Given the description of an element on the screen output the (x, y) to click on. 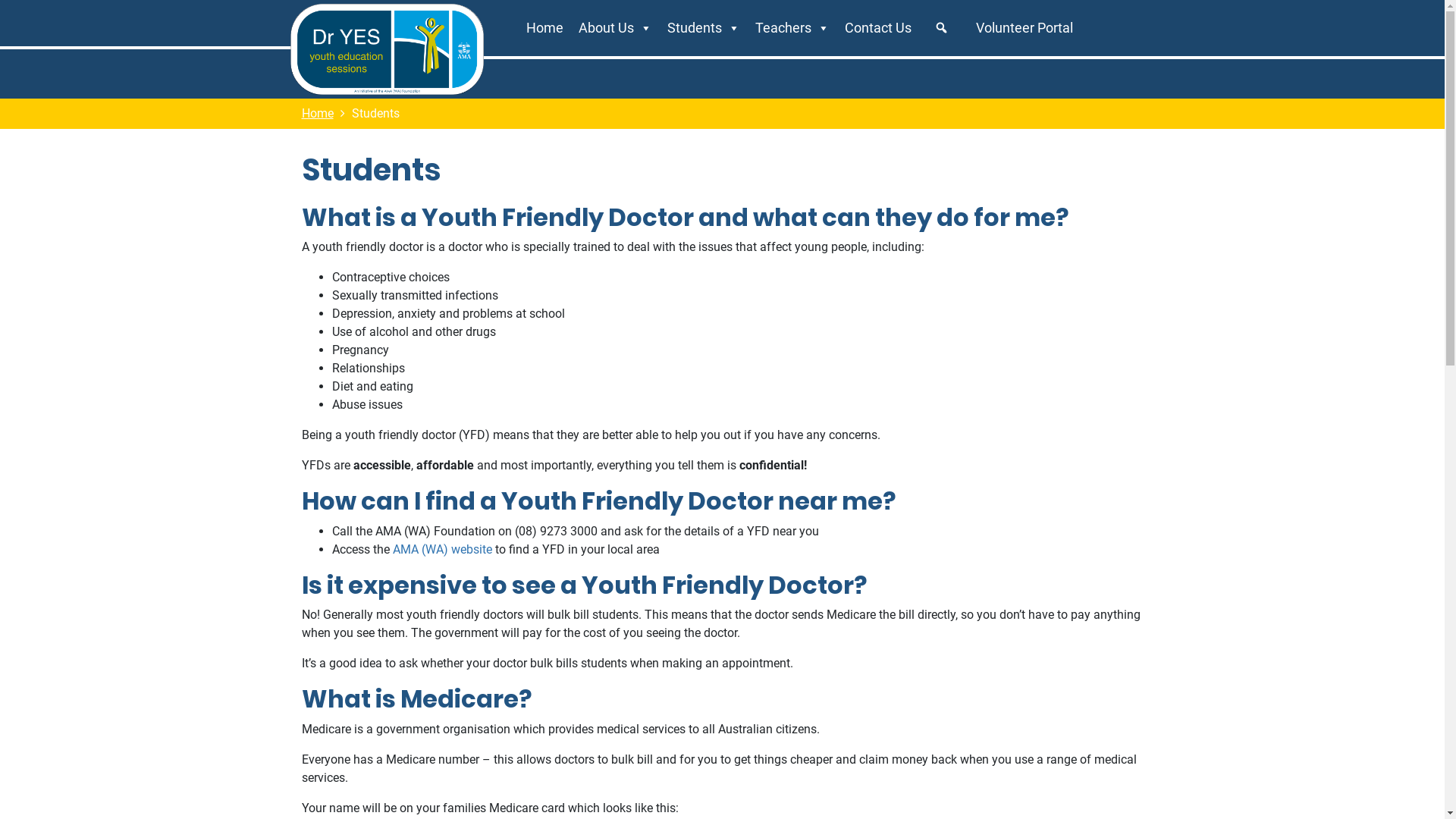
Teachers Element type: text (792, 27)
Students Element type: text (703, 27)
Volunteer Portal Element type: text (1024, 27)
Contact Us Element type: text (878, 27)
Search Element type: text (162, 21)
Search Element type: text (943, 27)
About Us Element type: text (615, 27)
Home Element type: text (544, 27)
Home Element type: text (317, 113)
AMA (WA) website Element type: text (442, 549)
